Given the description of an element on the screen output the (x, y) to click on. 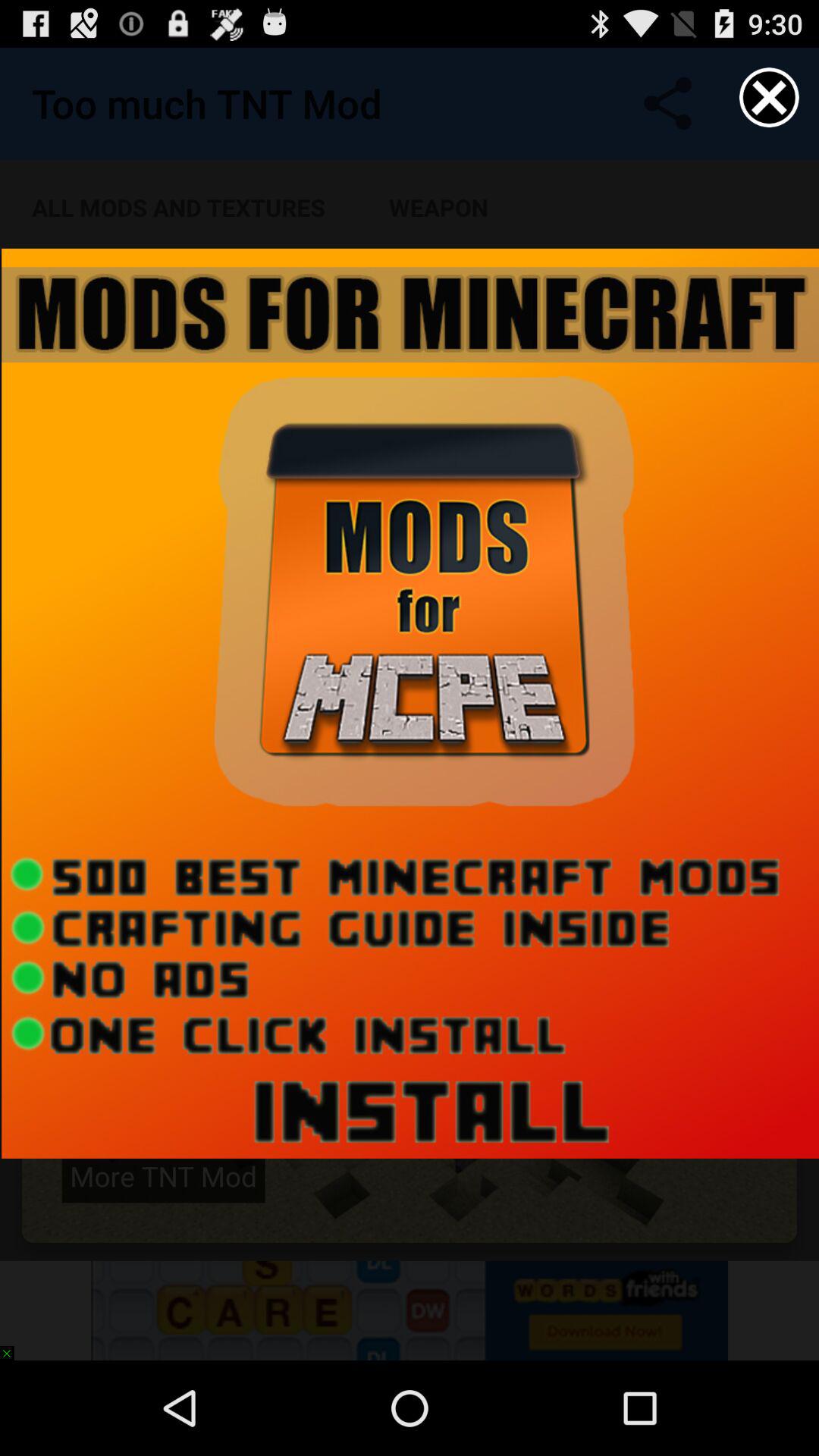
open the icon at the top right corner (769, 97)
